Given the description of an element on the screen output the (x, y) to click on. 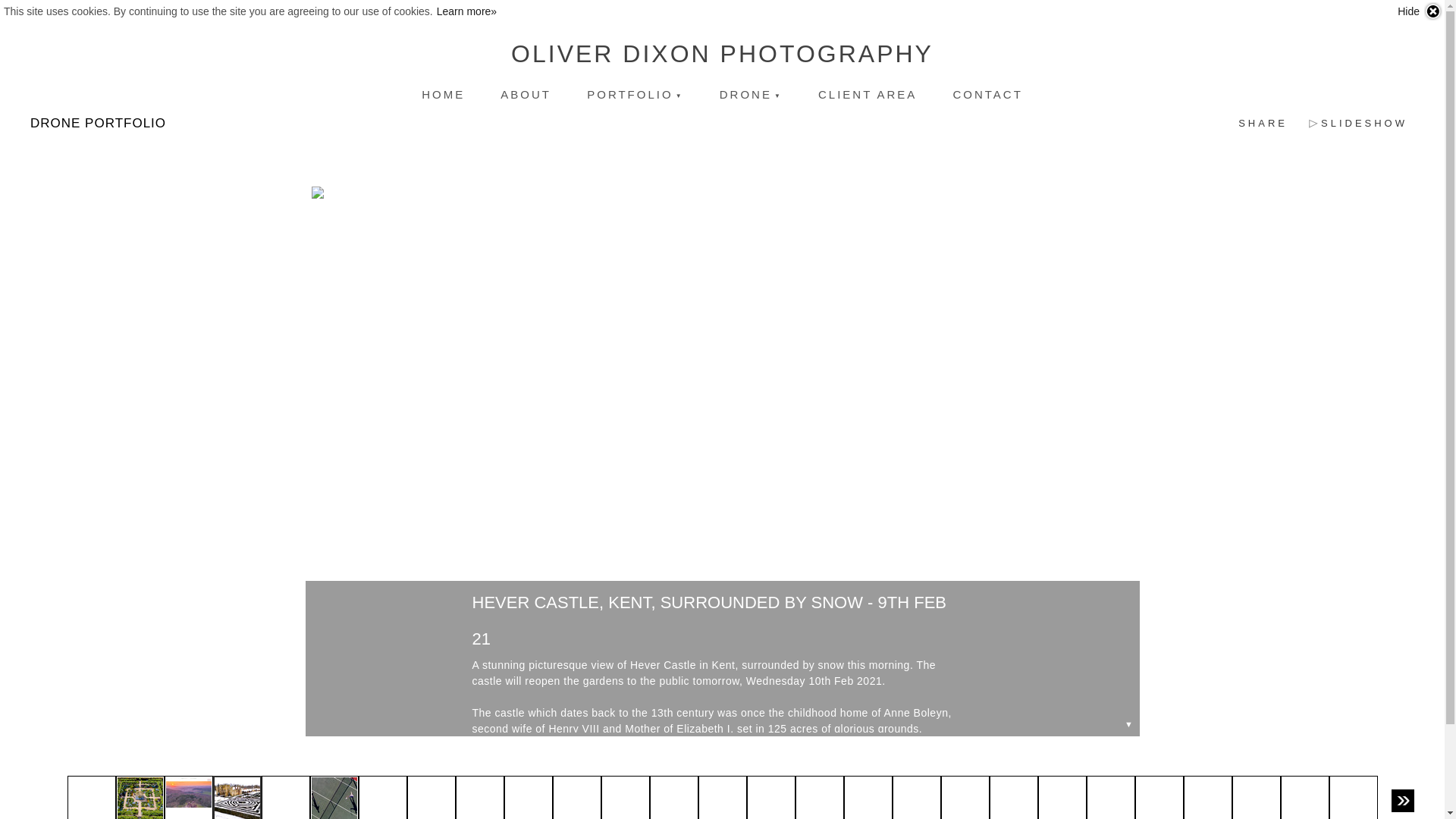
Oliver Dixon Photography (721, 53)
CLIENT AREA (867, 94)
HOME (443, 94)
CONTACT (986, 94)
ABOUT (525, 94)
More Thumbnails (1402, 800)
DRONE PORTFOLIO (97, 123)
Hide (1419, 11)
OLIVER DIXON PHOTOGRAPHY (721, 53)
